Given the description of an element on the screen output the (x, y) to click on. 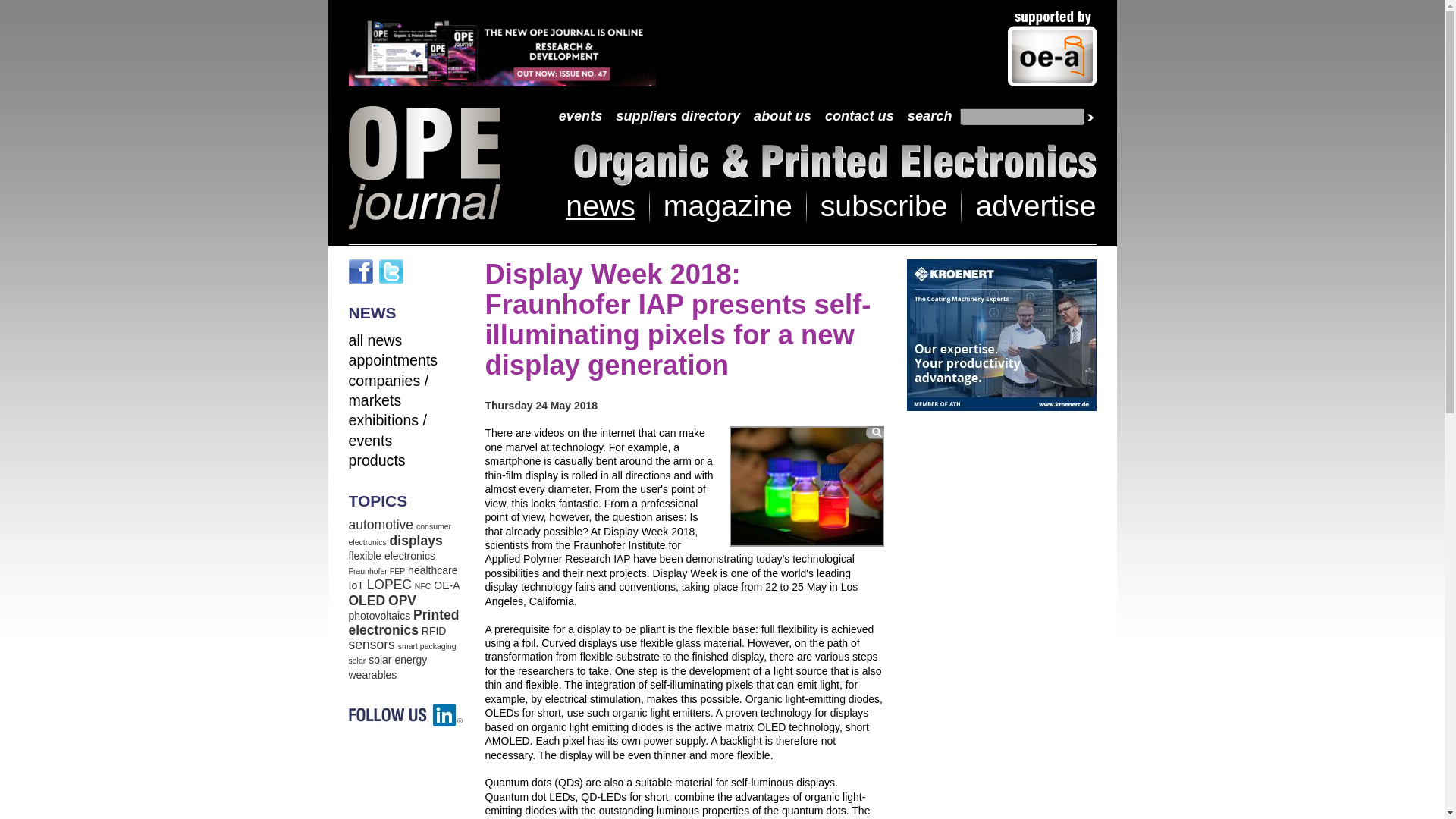
NFC (422, 585)
News (376, 340)
events (580, 116)
healthcare (432, 570)
Appointments - News (393, 360)
Events (580, 116)
all news (376, 340)
flexible electronics (392, 555)
contact us (859, 116)
Facebook (360, 271)
